Given the description of an element on the screen output the (x, y) to click on. 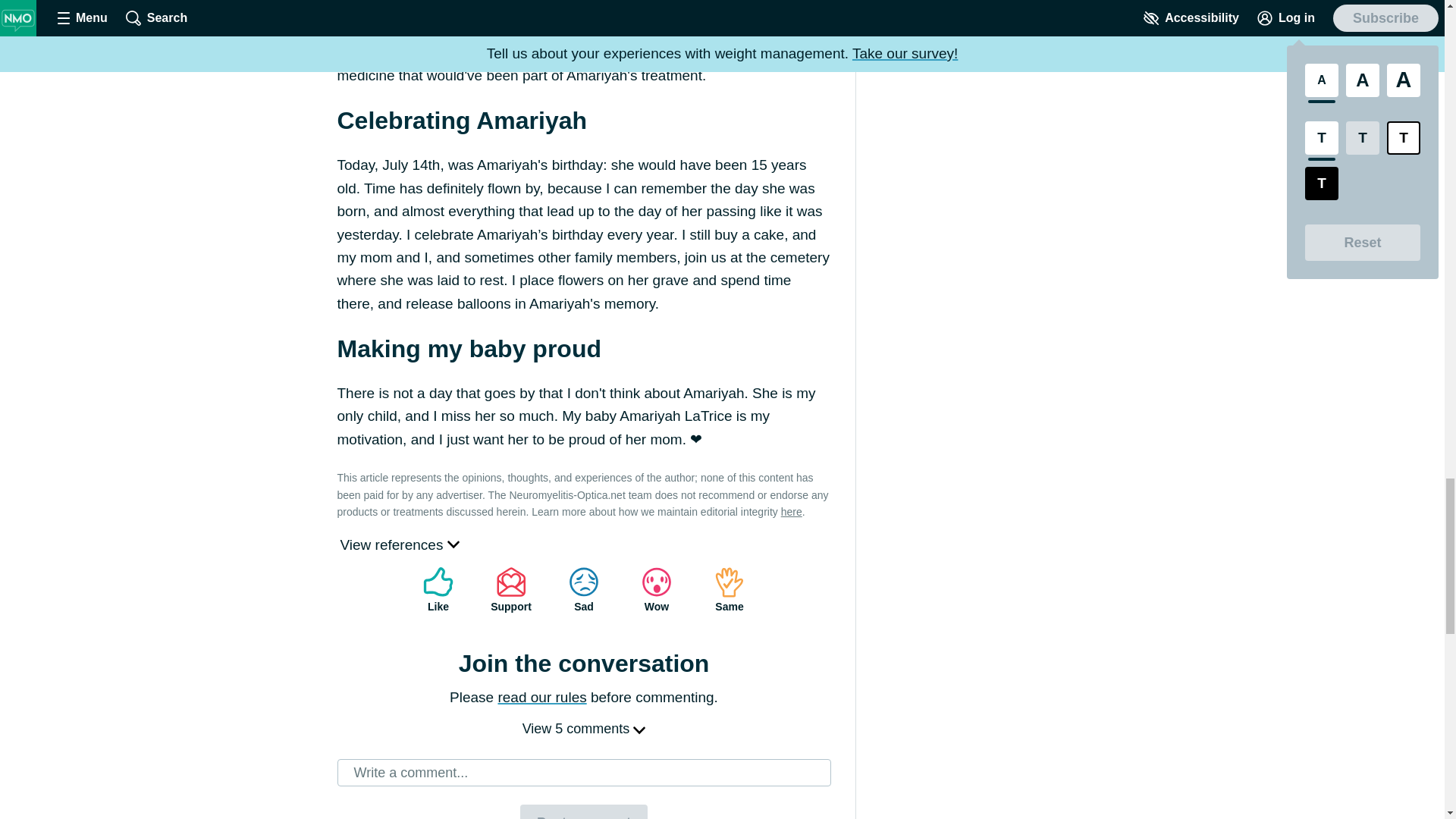
Wow (656, 589)
Support (510, 589)
Same (729, 589)
Sad (583, 589)
caret icon (639, 729)
Like (437, 589)
here (791, 511)
caret icon (453, 543)
View references caret icon (398, 544)
